Given the description of an element on the screen output the (x, y) to click on. 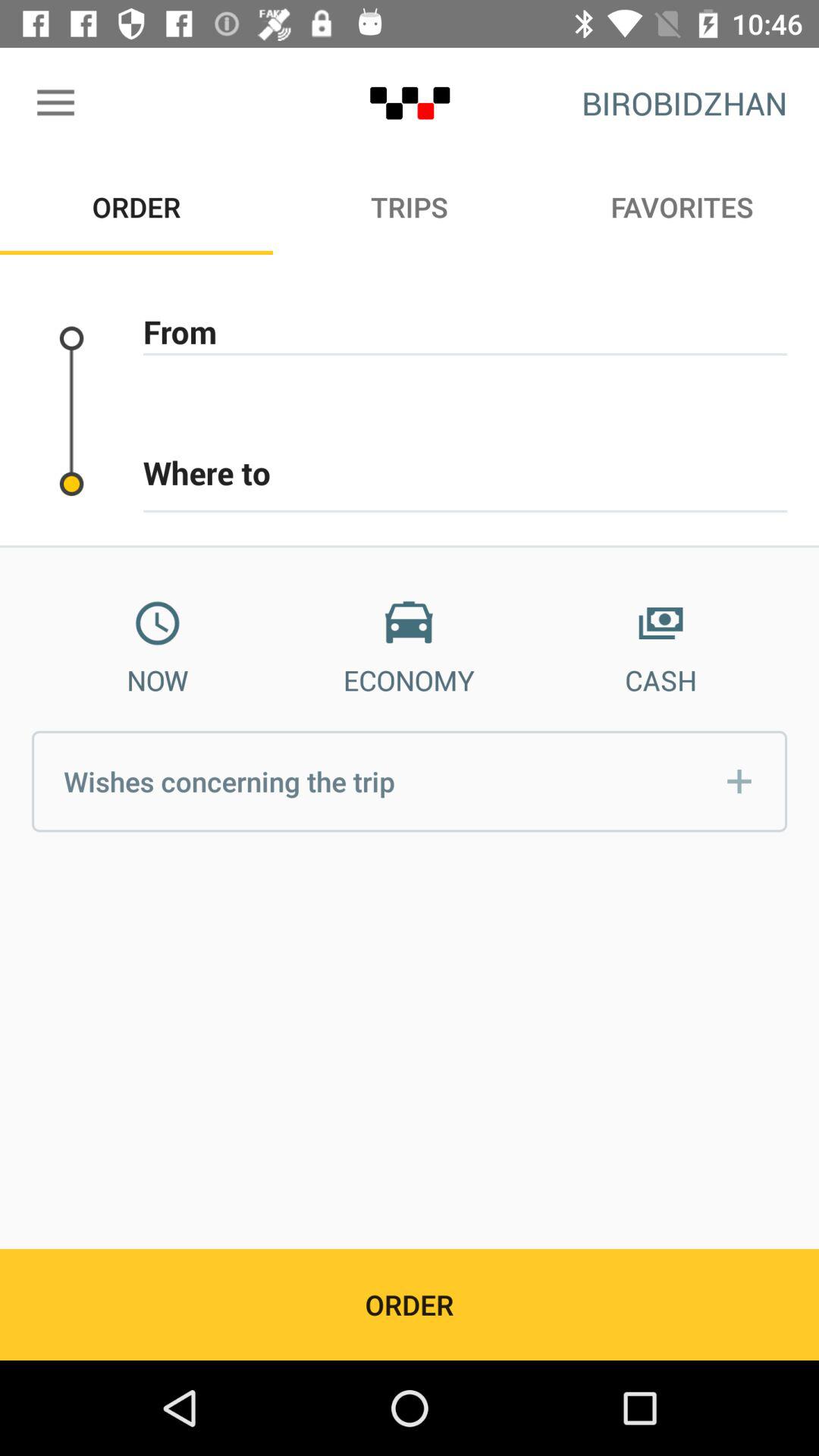
turn on the icon above the order (55, 103)
